Given the description of an element on the screen output the (x, y) to click on. 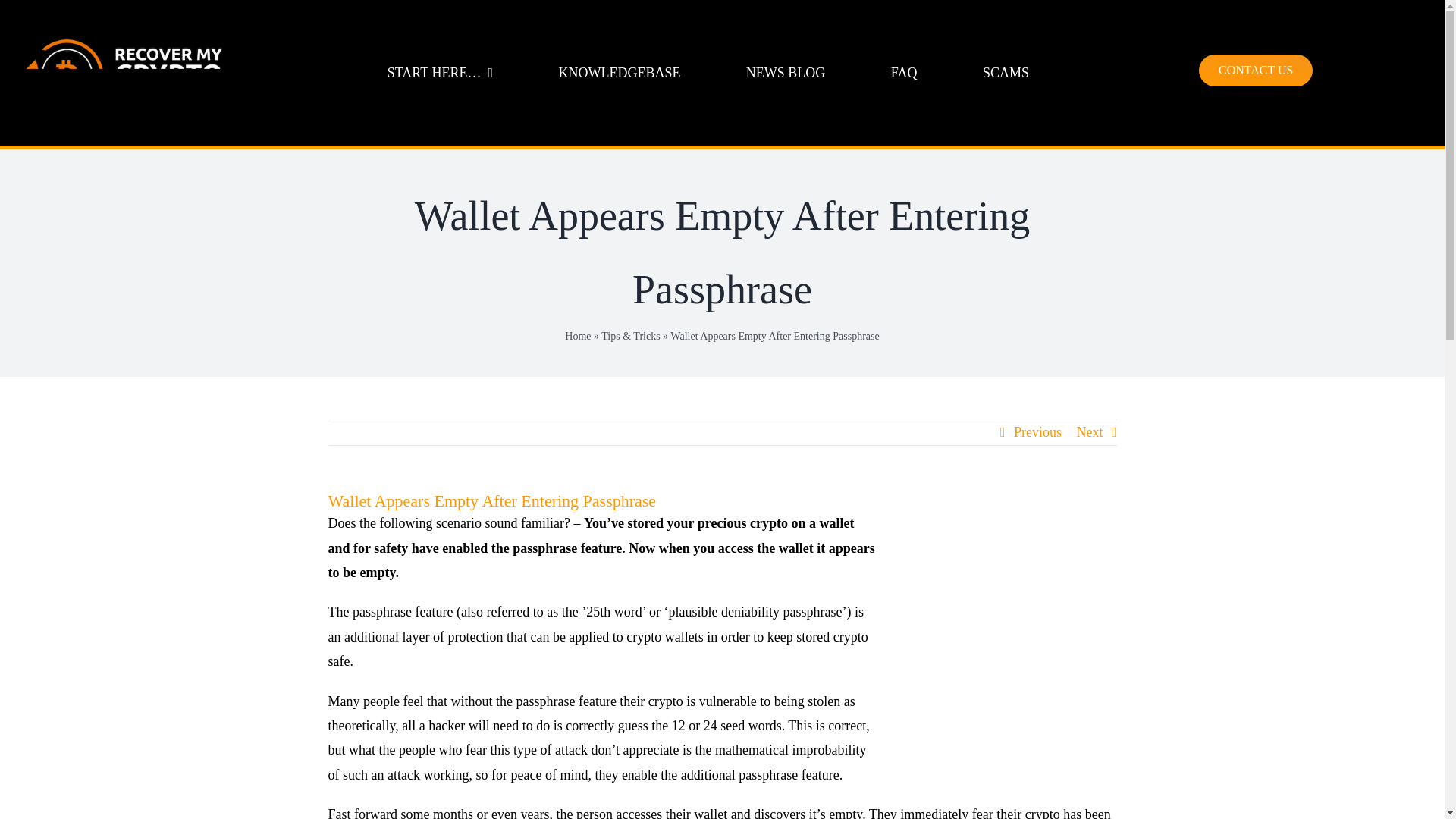
SCAMS (1005, 72)
KNOWLEDGEBASE (618, 72)
Home (577, 336)
NEWS BLOG (785, 72)
FAQ (904, 72)
CONTACT US (1255, 70)
Previous (1037, 432)
Next (1090, 432)
